Given the description of an element on the screen output the (x, y) to click on. 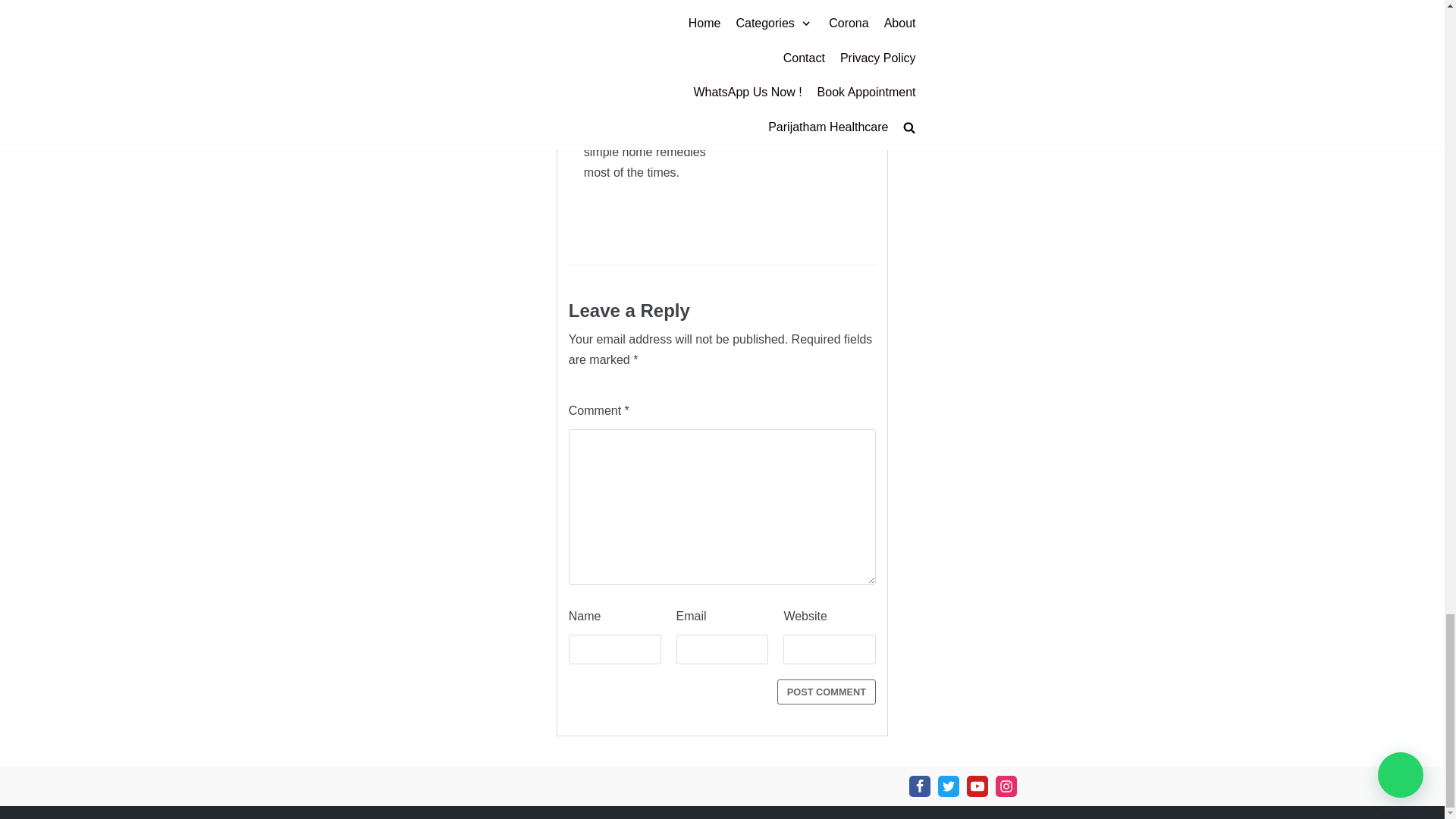
Youtube (977, 785)
Post Comment (826, 691)
Instagram (1005, 785)
Facebook (919, 785)
Twitter (948, 785)
